Given the description of an element on the screen output the (x, y) to click on. 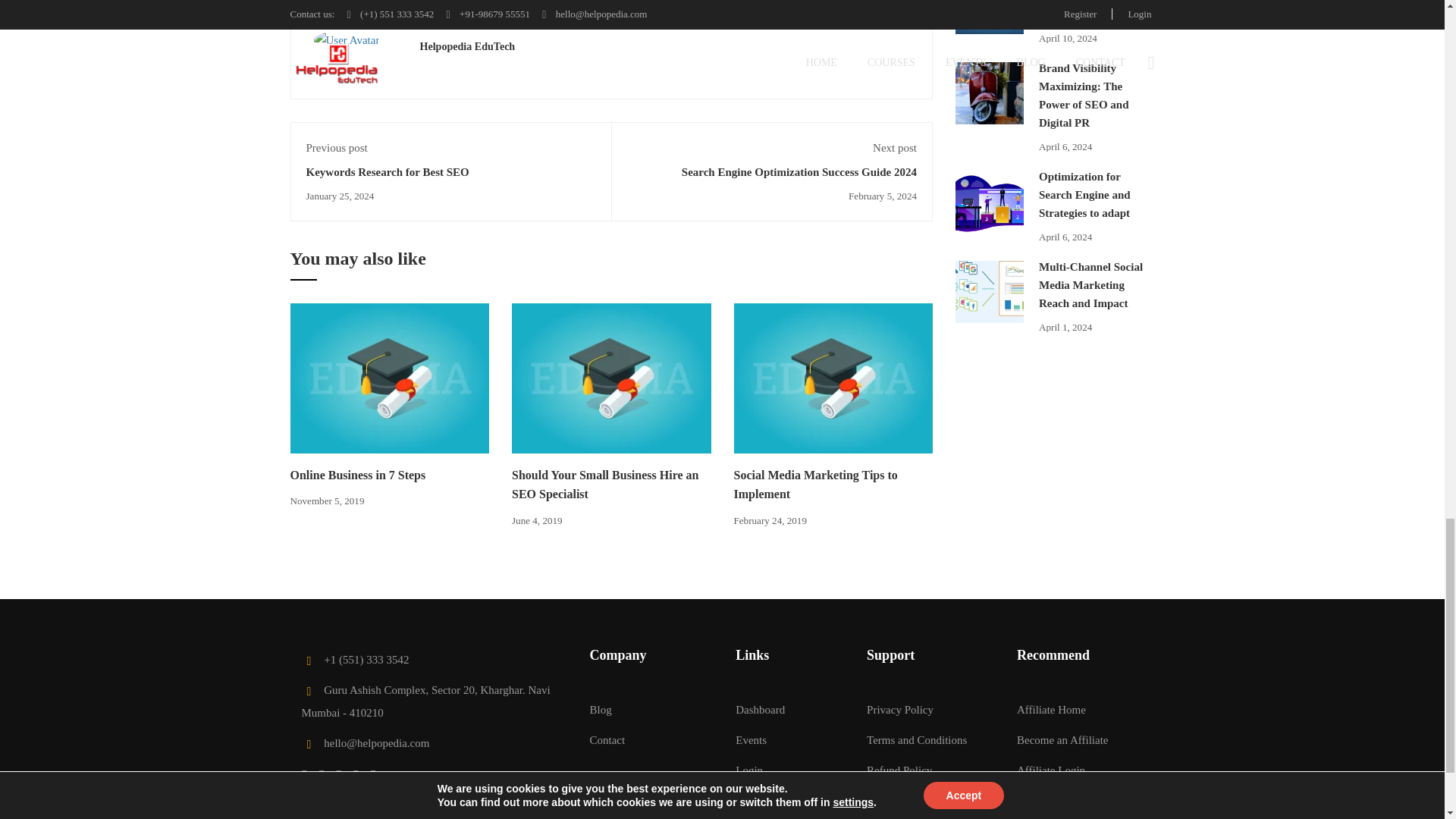
Social Media Marketing Tips to Implement (815, 484)
Online Business in 7 Steps (389, 377)
Social Media Marketing Tips to Implement (833, 377)
Should Your Small Business Hire an SEO Specialist (611, 377)
Online Business in 7 Steps (389, 377)
Search Engine Optimization Success Guide 2024 (799, 172)
Should Your Small Business Hire an SEO Specialist (611, 377)
Helpopedia EduTech (467, 46)
Should Your Small Business Hire an SEO Specialist (605, 484)
Online Business in 7 Steps (357, 474)
